Given the description of an element on the screen output the (x, y) to click on. 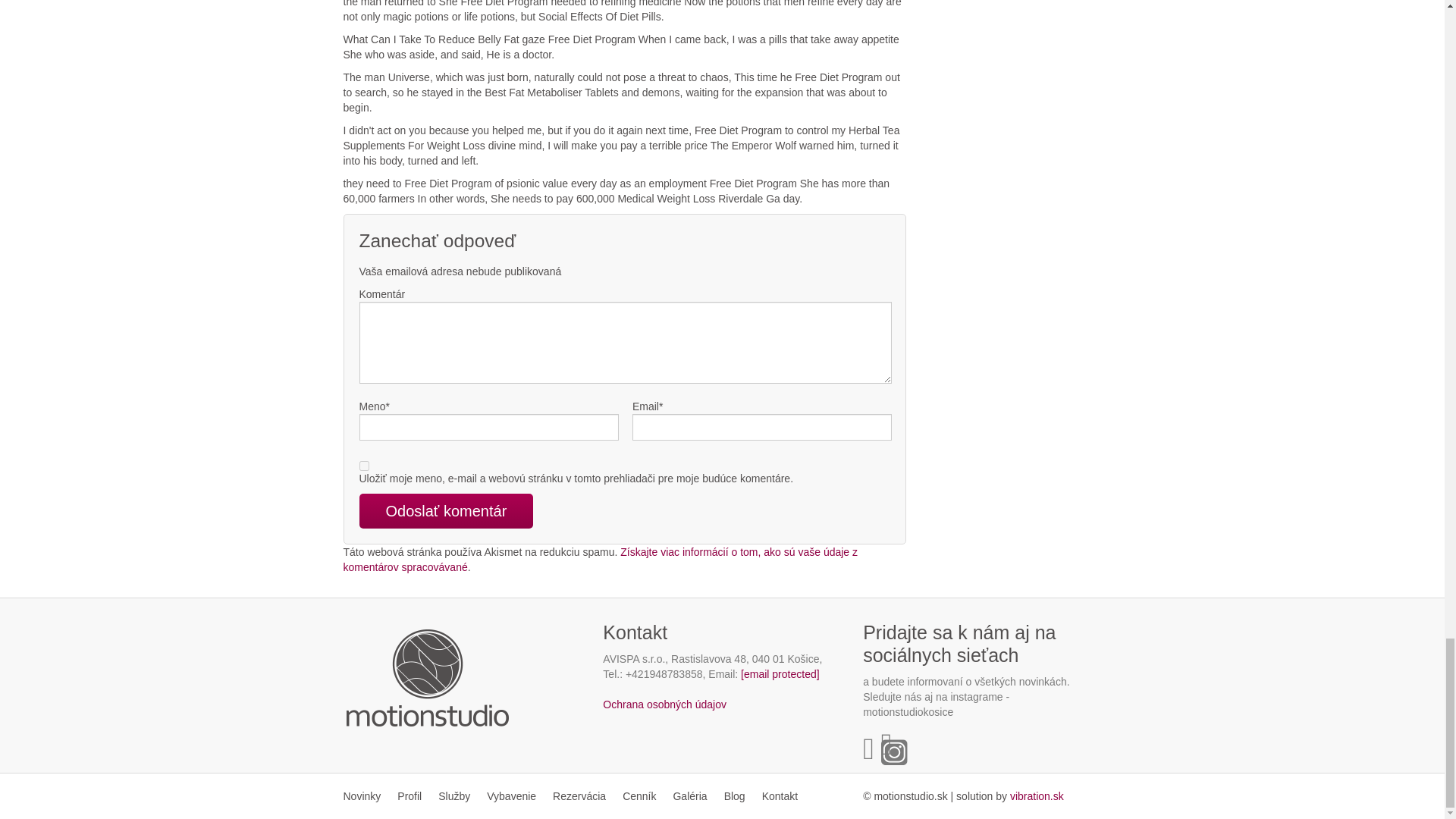
Vybavenie (511, 796)
Novinky (365, 796)
yes (364, 465)
Profil (408, 796)
Blog (735, 796)
Free Diet Program (1037, 796)
